Given the description of an element on the screen output the (x, y) to click on. 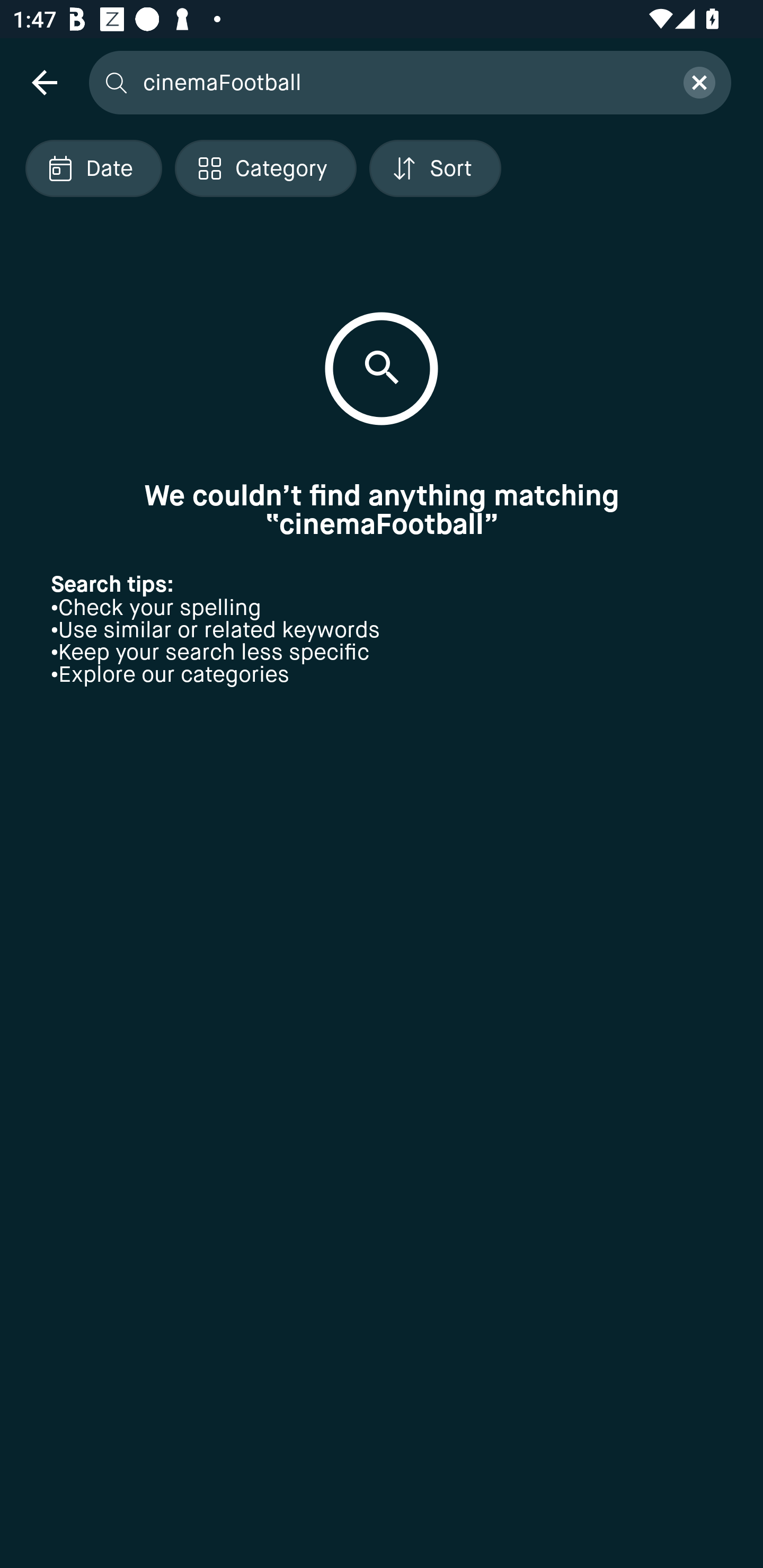
navigation icon (44, 81)
cinemaFootball (402, 81)
Localized description Date (93, 168)
Localized description Category (265, 168)
Localized description Sort (435, 168)
